Given the description of an element on the screen output the (x, y) to click on. 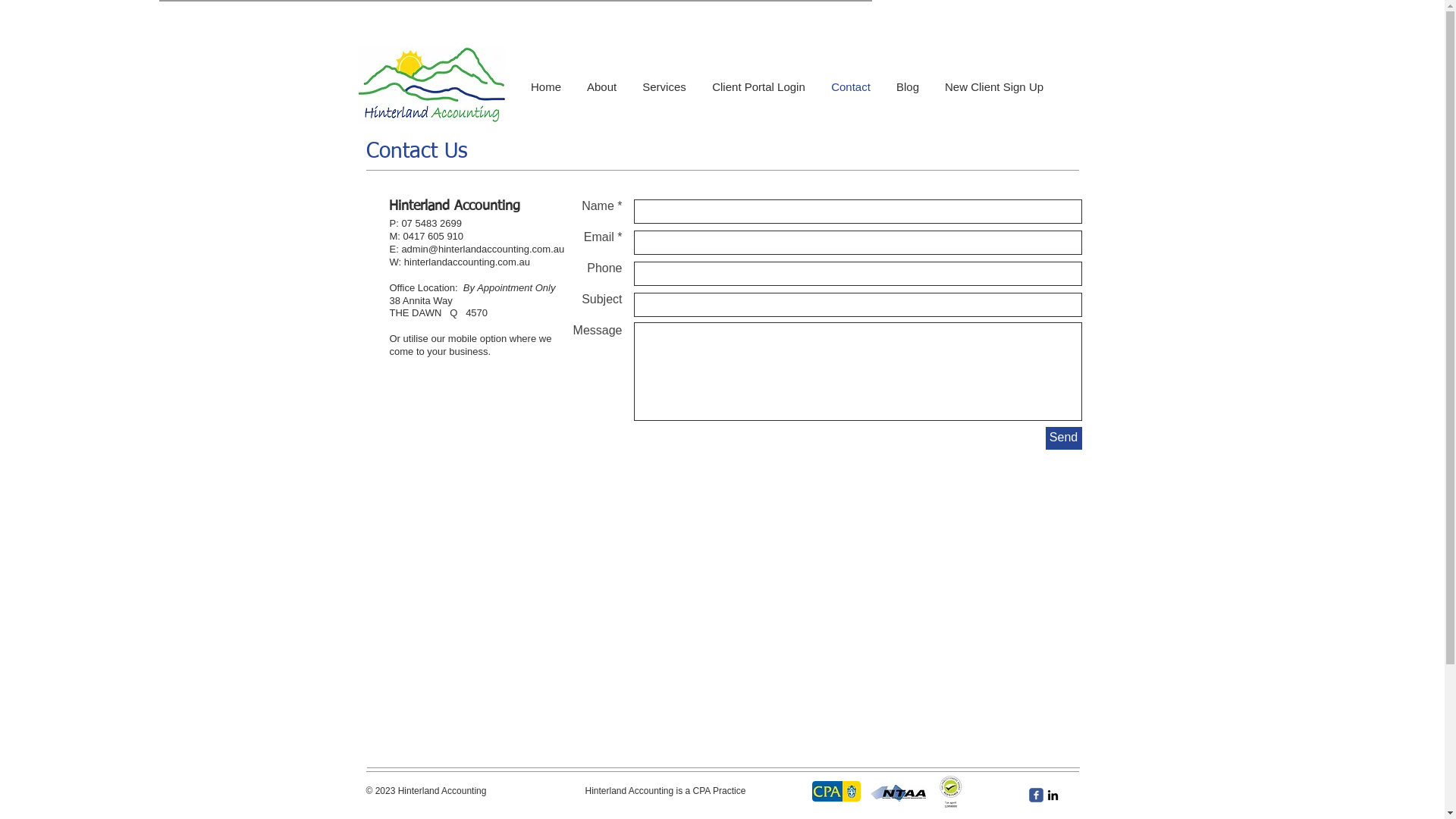
Services Element type: text (664, 86)
Send Element type: text (1062, 437)
Google Maps Element type: hover (721, 551)
About Element type: text (601, 86)
New Client Sign Up Element type: text (993, 86)
Client Portal Login Element type: text (758, 86)
Blog Element type: text (907, 86)
Home Element type: text (545, 86)
Contact Element type: text (850, 86)
